Given the description of an element on the screen output the (x, y) to click on. 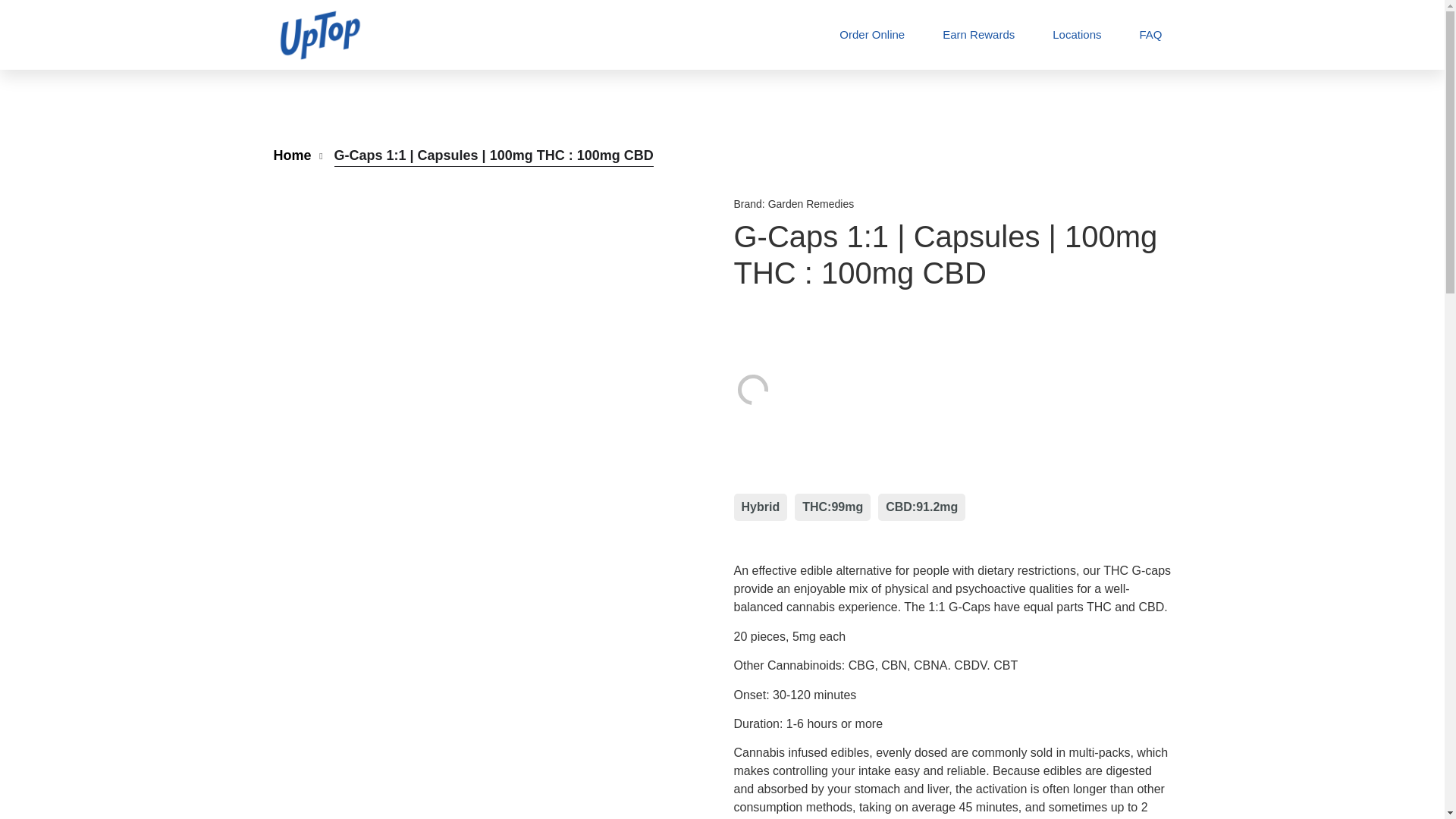
Order Online (872, 34)
Home (292, 156)
Earn Rewards (978, 34)
